Given the description of an element on the screen output the (x, y) to click on. 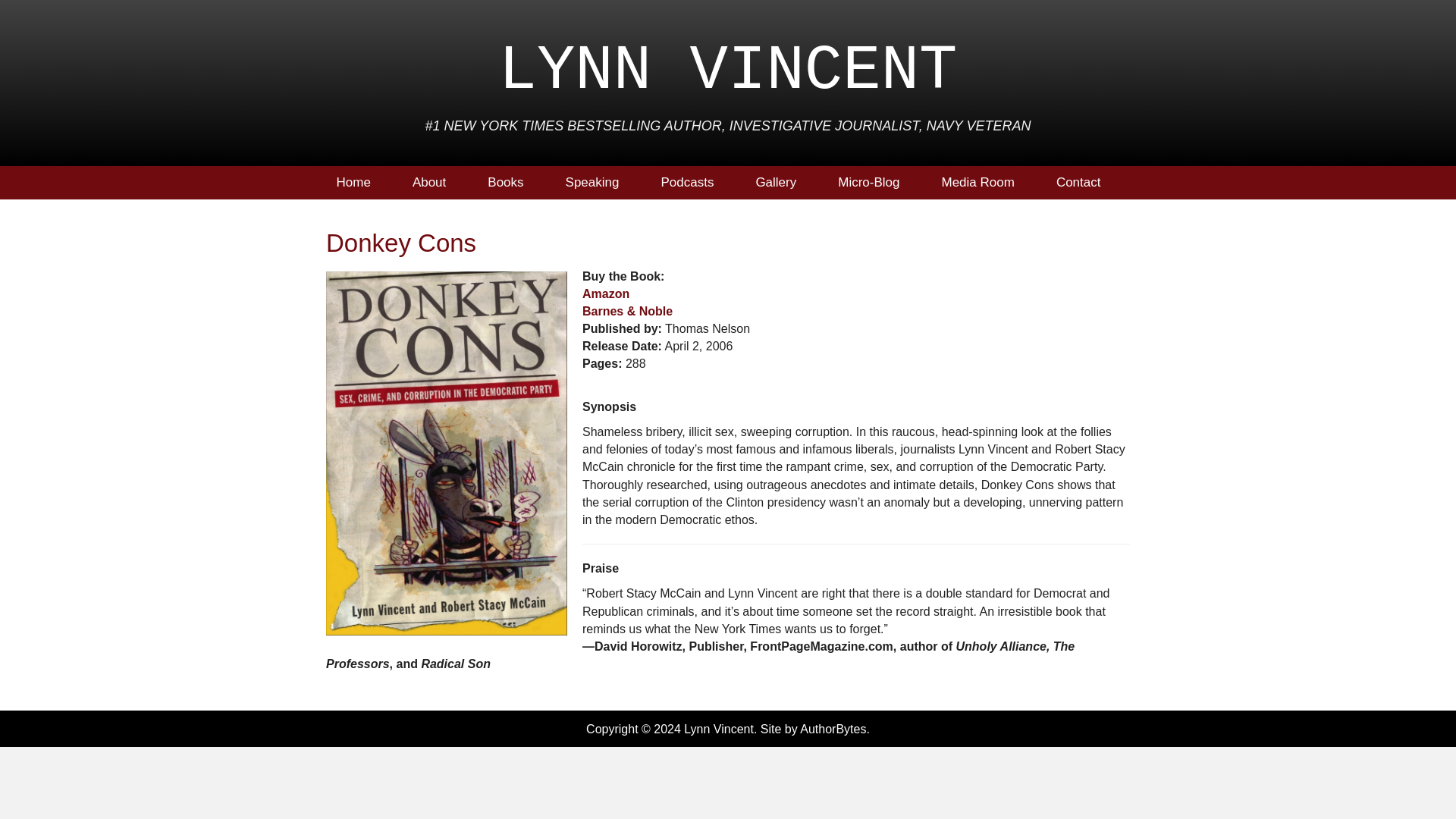
Books (514, 182)
Amazon (605, 293)
AuthorBytes (832, 728)
Podcasts (696, 182)
Speaking (601, 182)
Media Room (986, 182)
Home (362, 182)
Gallery (785, 182)
Micro-Blog (878, 182)
About (438, 182)
Contact (1088, 182)
